Given the description of an element on the screen output the (x, y) to click on. 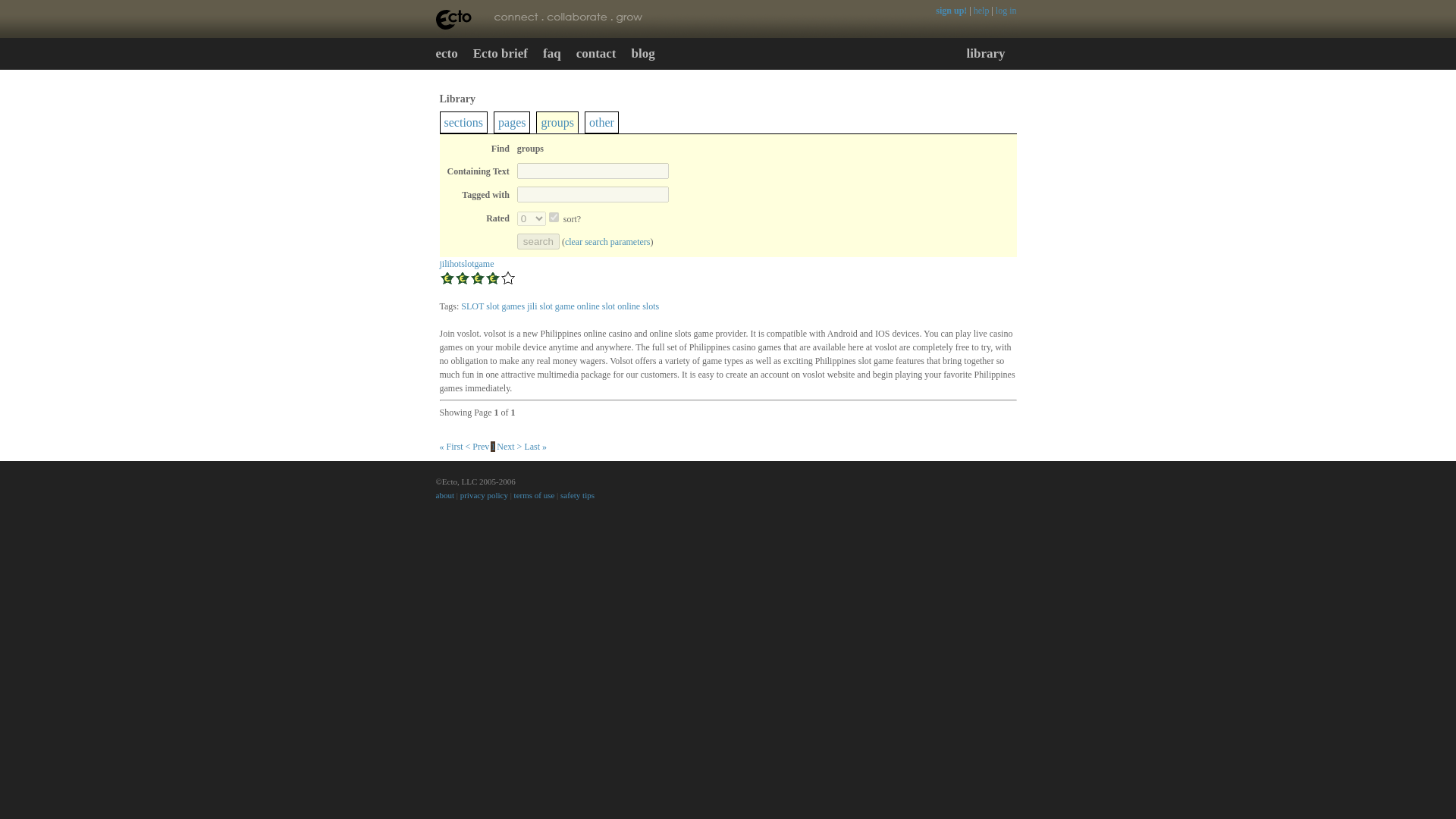
online slots (638, 306)
contact (595, 54)
1 (492, 446)
1 (553, 216)
blog (641, 54)
sections (463, 122)
faq (551, 54)
terms of use (533, 494)
jilihotslotgame (467, 263)
help (982, 9)
ecto (446, 54)
online slot (595, 306)
search (537, 241)
safety tips (577, 494)
log in (1005, 9)
